Given the description of an element on the screen output the (x, y) to click on. 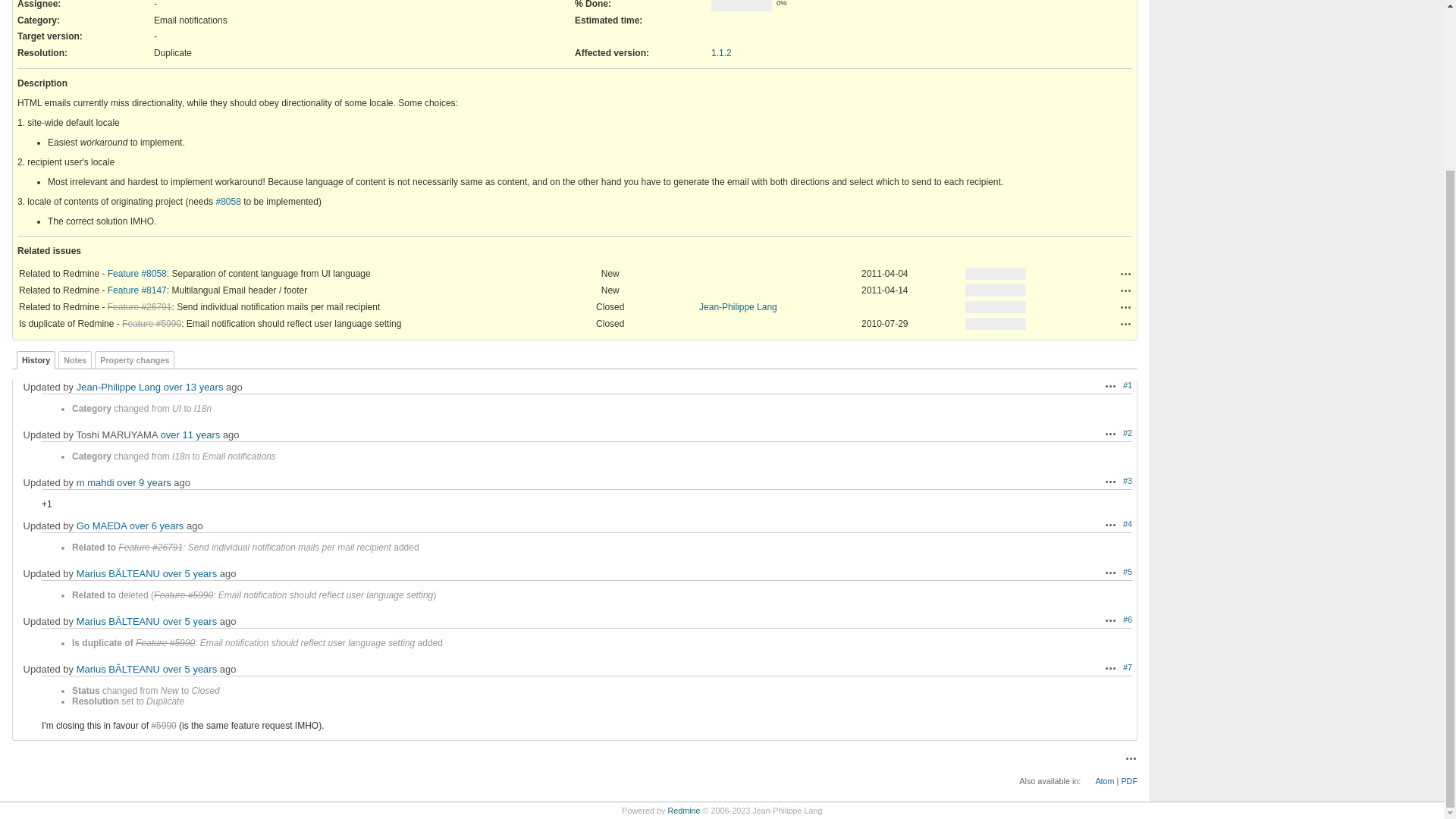
Actions (1125, 323)
Actions (1125, 273)
Jean-Philippe Lang (737, 307)
1.1.2 (721, 52)
2013-02-16 09:21 (190, 434)
2011-04-13 11:35 (193, 387)
Actions (1110, 481)
Actions (1125, 290)
Actions (1125, 273)
2015-02-28 14:50 (143, 482)
